Given the description of an element on the screen output the (x, y) to click on. 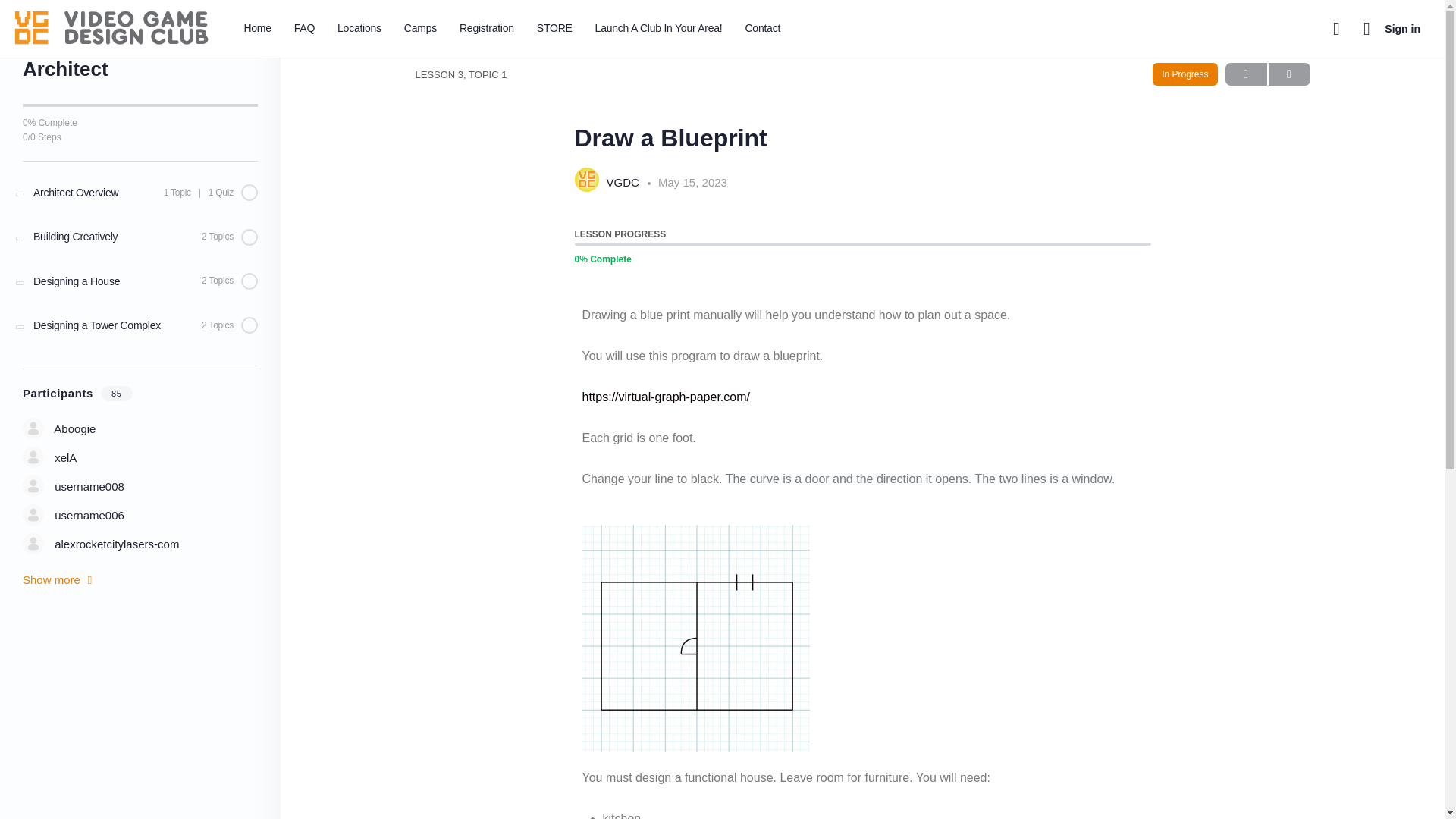
Launch A Club In Your Area! (659, 28)
Locations (359, 28)
Sign in (1402, 28)
Architect Overview (140, 192)
Registration (486, 28)
Designing a House (140, 281)
Designing a Tower Complex (140, 324)
Architect (69, 34)
Building Creatively (140, 236)
